Given the description of an element on the screen output the (x, y) to click on. 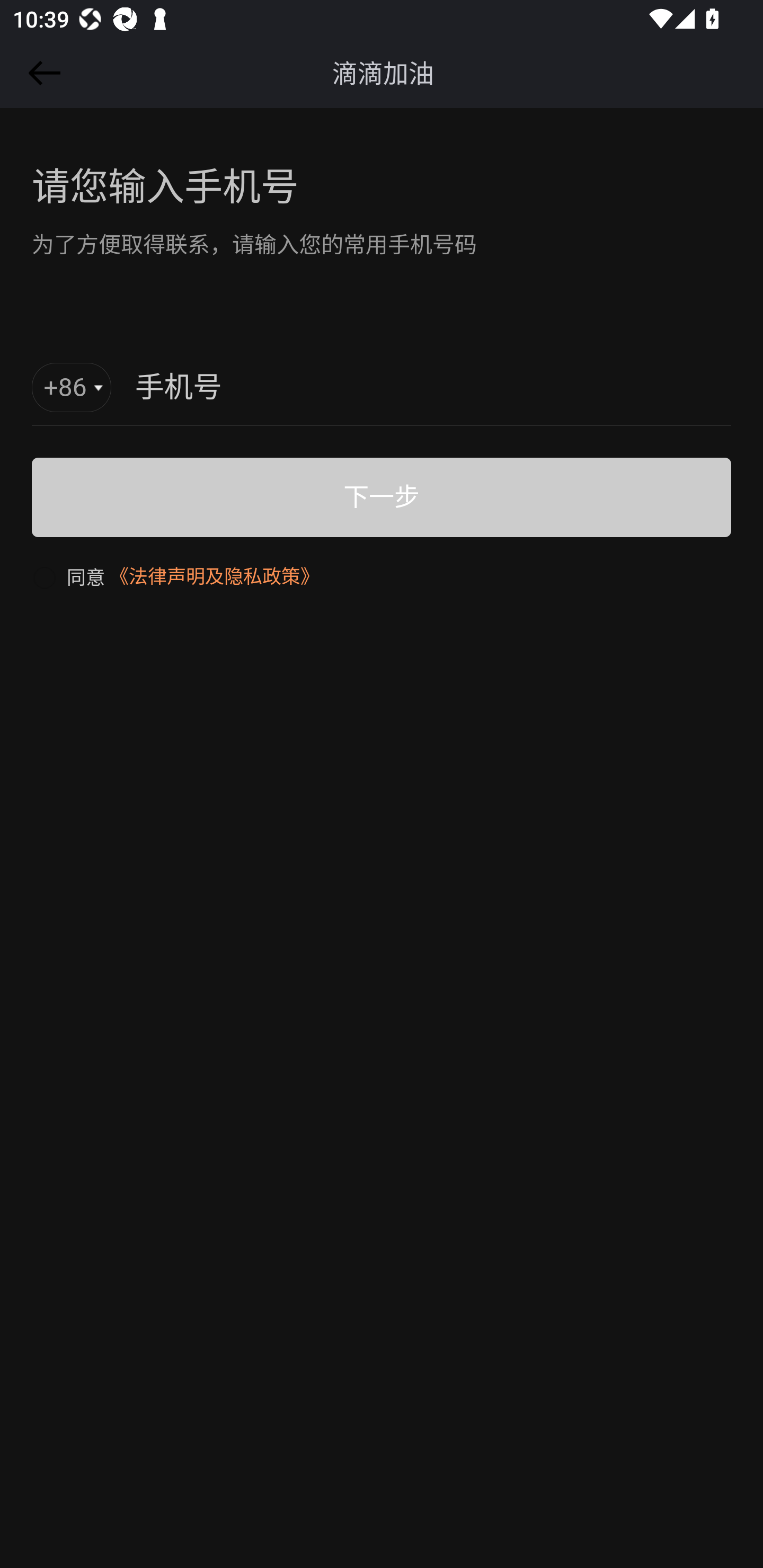
 (41, 72)
+86 (72, 387)
下一步 (381, 496)
同意 (68, 576)
《法律声明及隐私政策》 (213, 576)
